Given the description of an element on the screen output the (x, y) to click on. 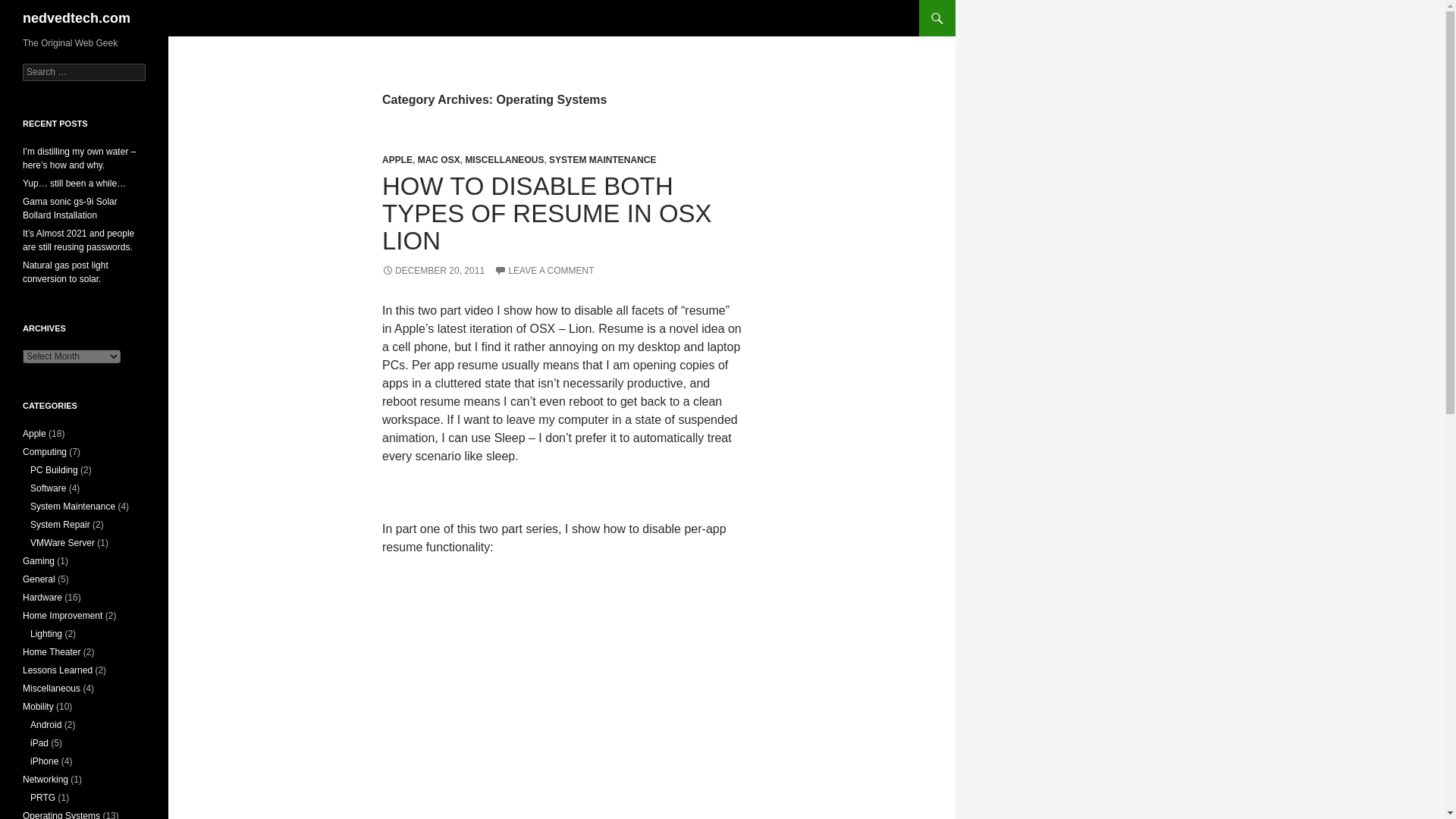
APPLE (396, 159)
SYSTEM MAINTENANCE (602, 159)
DECEMBER 20, 2011 (432, 270)
HOW TO DISABLE BOTH TYPES OF RESUME IN OSX LION (546, 212)
nedvedtech.com (77, 18)
LEAVE A COMMENT (544, 270)
MISCELLANEOUS (503, 159)
MAC OSX (438, 159)
